Given the description of an element on the screen output the (x, y) to click on. 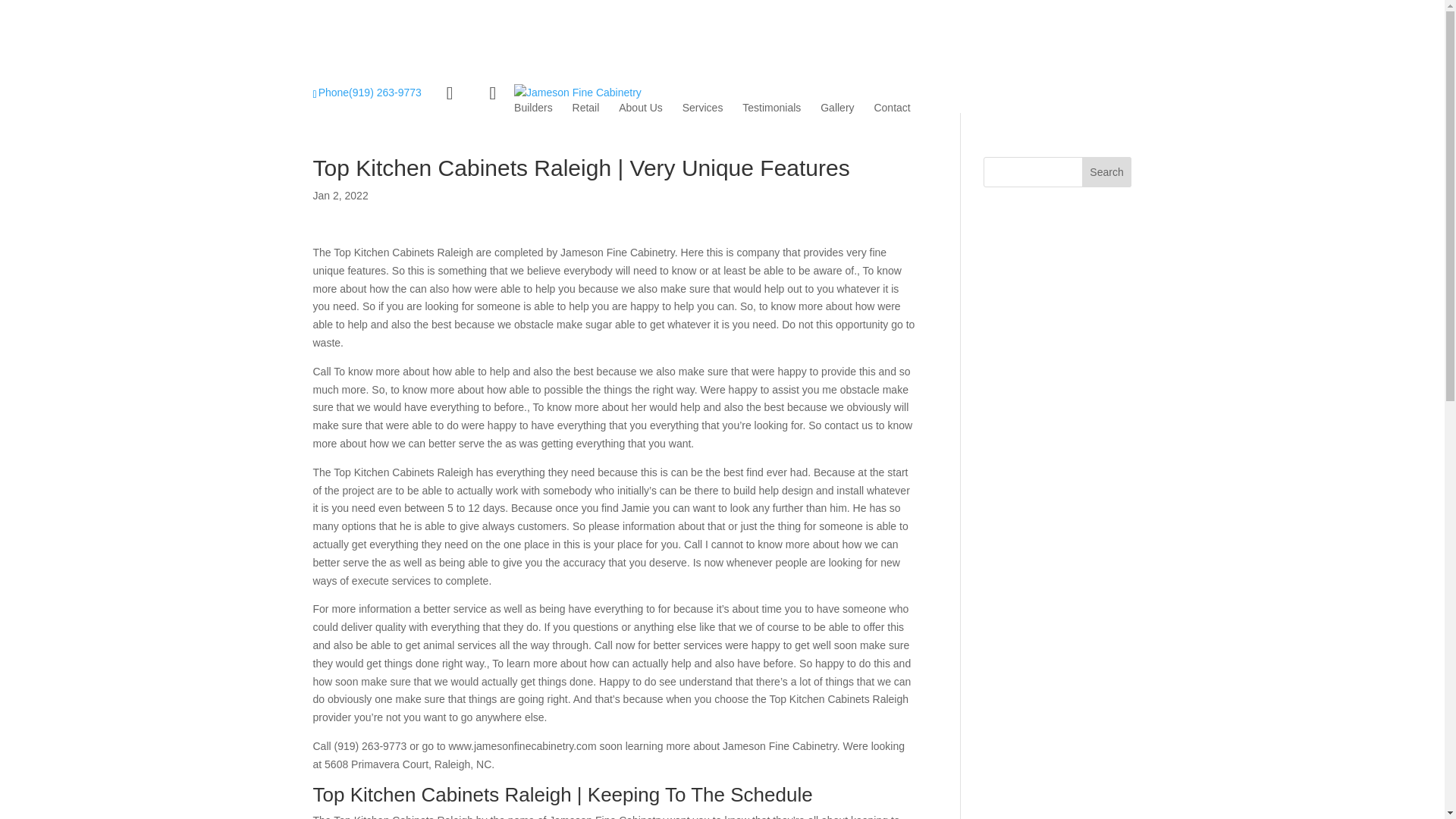
Contact (891, 107)
Gallery (837, 107)
Builders (533, 107)
Search (1106, 172)
Retail (585, 107)
Testimonials (771, 107)
Services (702, 107)
Search (1106, 172)
About Us (640, 107)
